Given the description of an element on the screen output the (x, y) to click on. 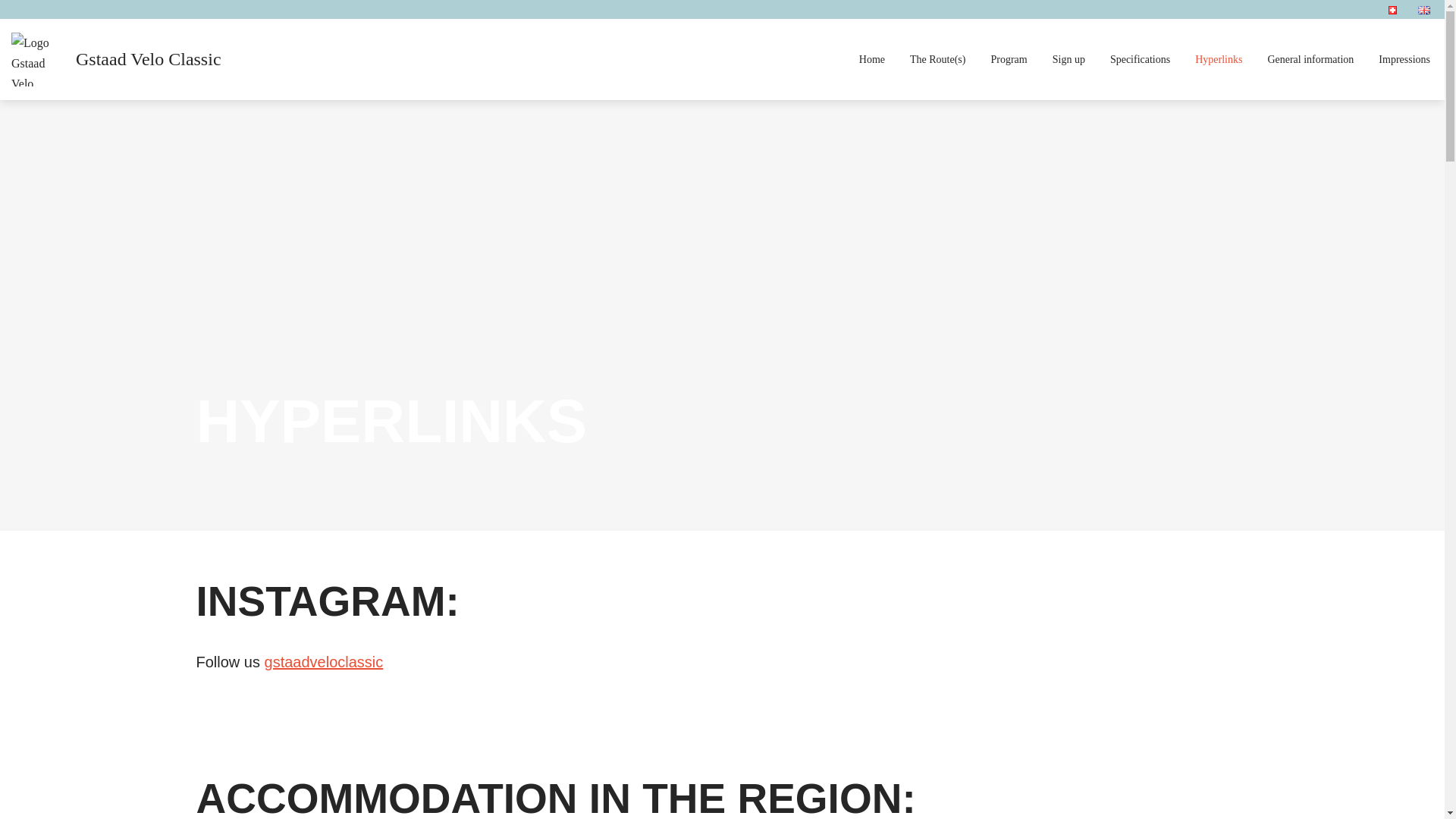
Program (1008, 58)
Specifications (1139, 58)
gstaadveloclassic (324, 661)
Sign up (1068, 58)
Hyperlinks (1218, 58)
Impressions (1403, 58)
Home (872, 58)
Skip to content (11, 31)
General information (1310, 58)
